Given the description of an element on the screen output the (x, y) to click on. 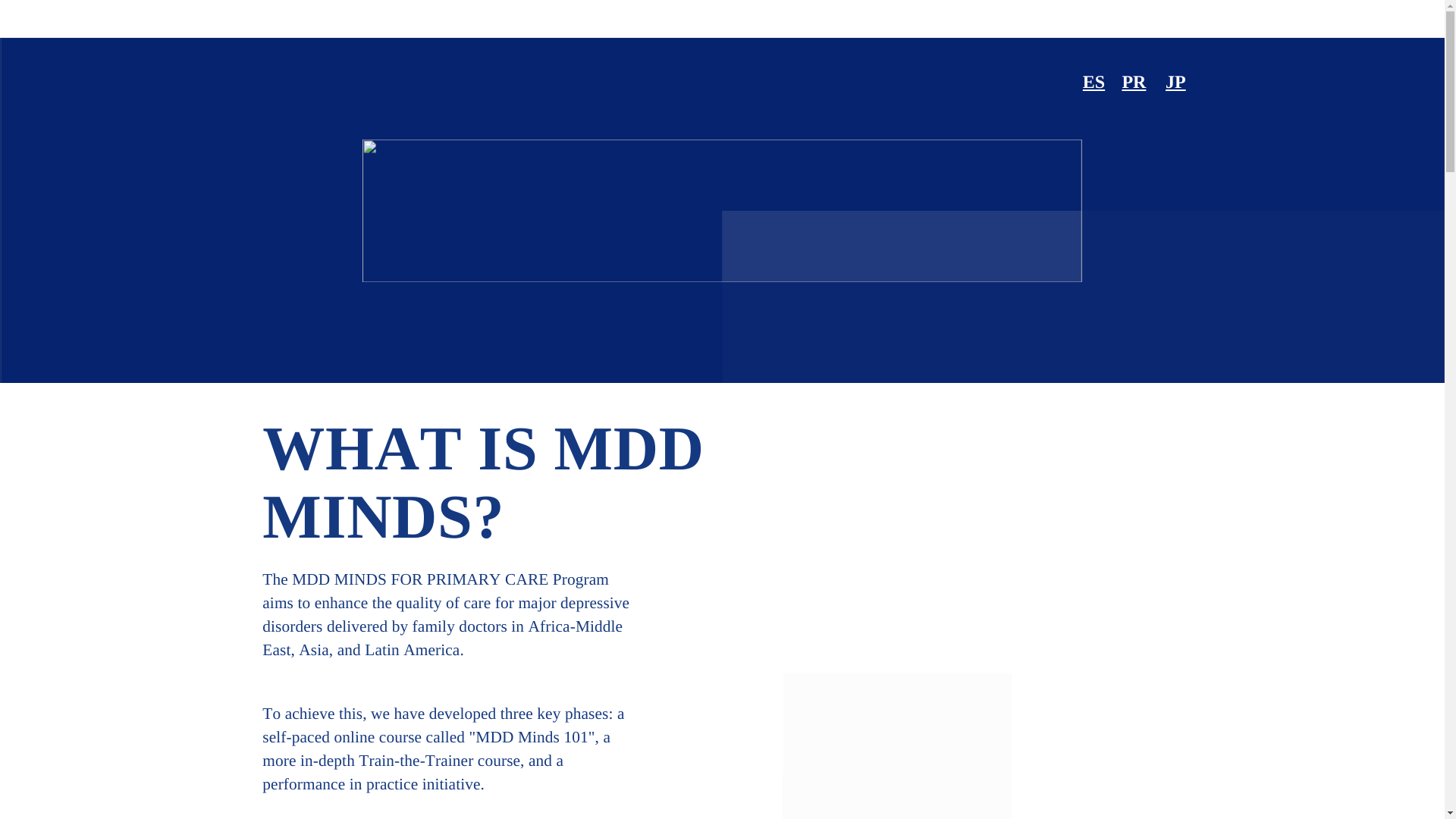
PR (1133, 82)
JP (1176, 82)
ES (1094, 82)
